Given the description of an element on the screen output the (x, y) to click on. 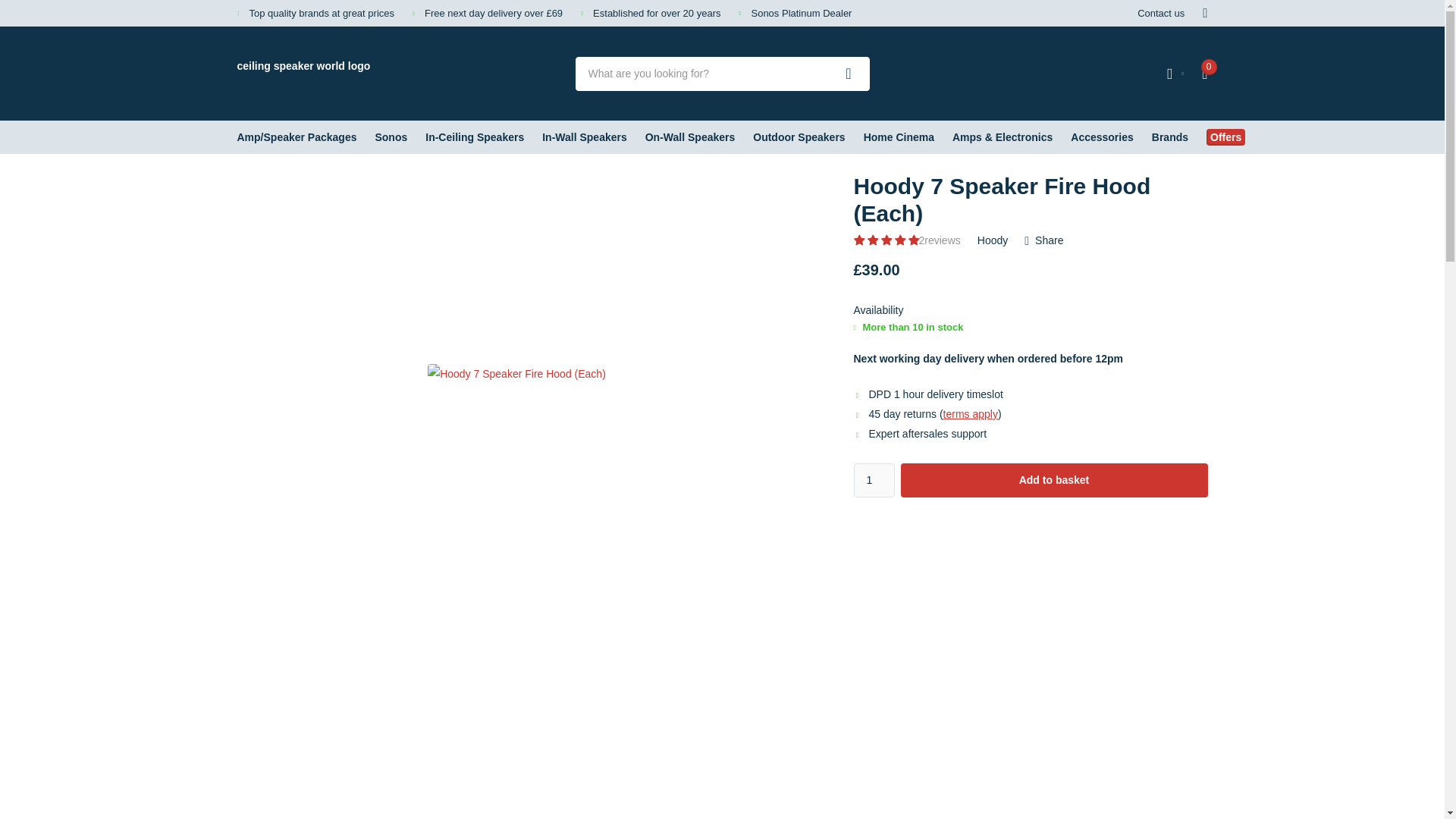
Zoeken (848, 73)
Sonos (390, 136)
Contact us (1161, 13)
Refund Policy (970, 413)
1 (874, 480)
Customer reviews powered by Trustpilot (1097, 73)
